Given the description of an element on the screen output the (x, y) to click on. 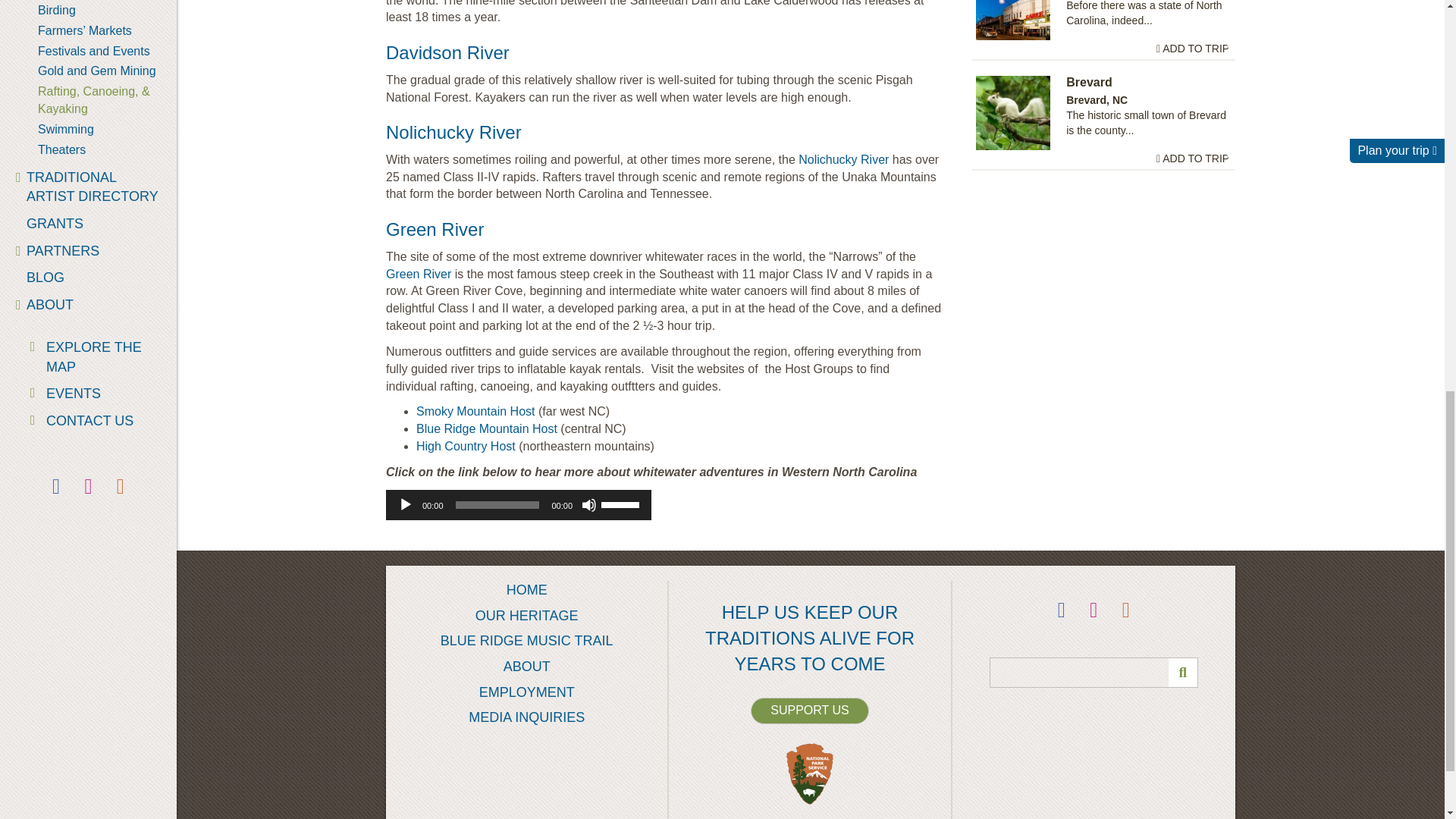
Search Submit (1182, 672)
Mute (588, 504)
Search (1094, 672)
Play (405, 504)
Donate (809, 710)
